Given the description of an element on the screen output the (x, y) to click on. 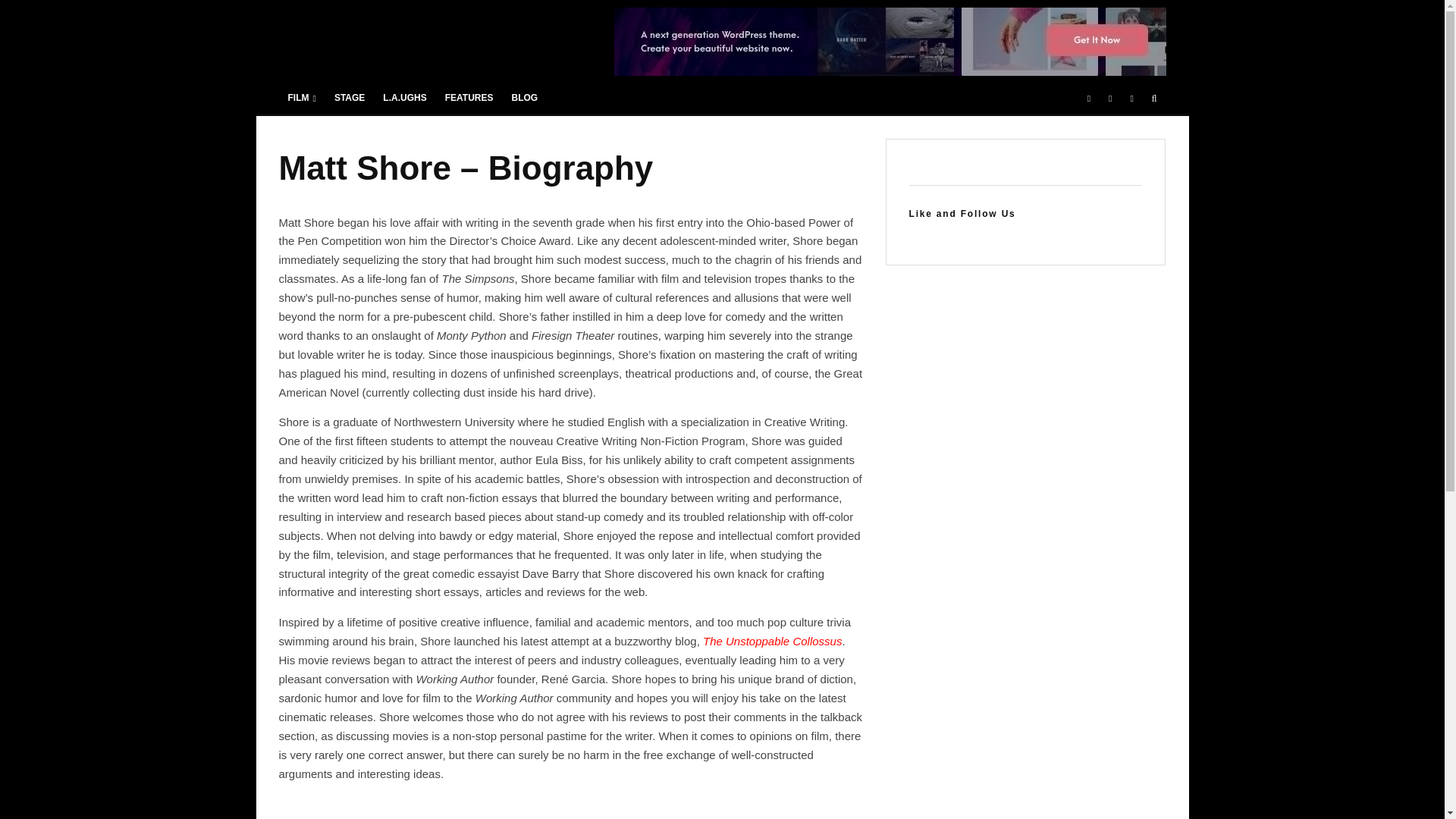
FILM (301, 98)
L.A.UGHS (404, 98)
FEATURES (468, 98)
STAGE (349, 98)
